Given the description of an element on the screen output the (x, y) to click on. 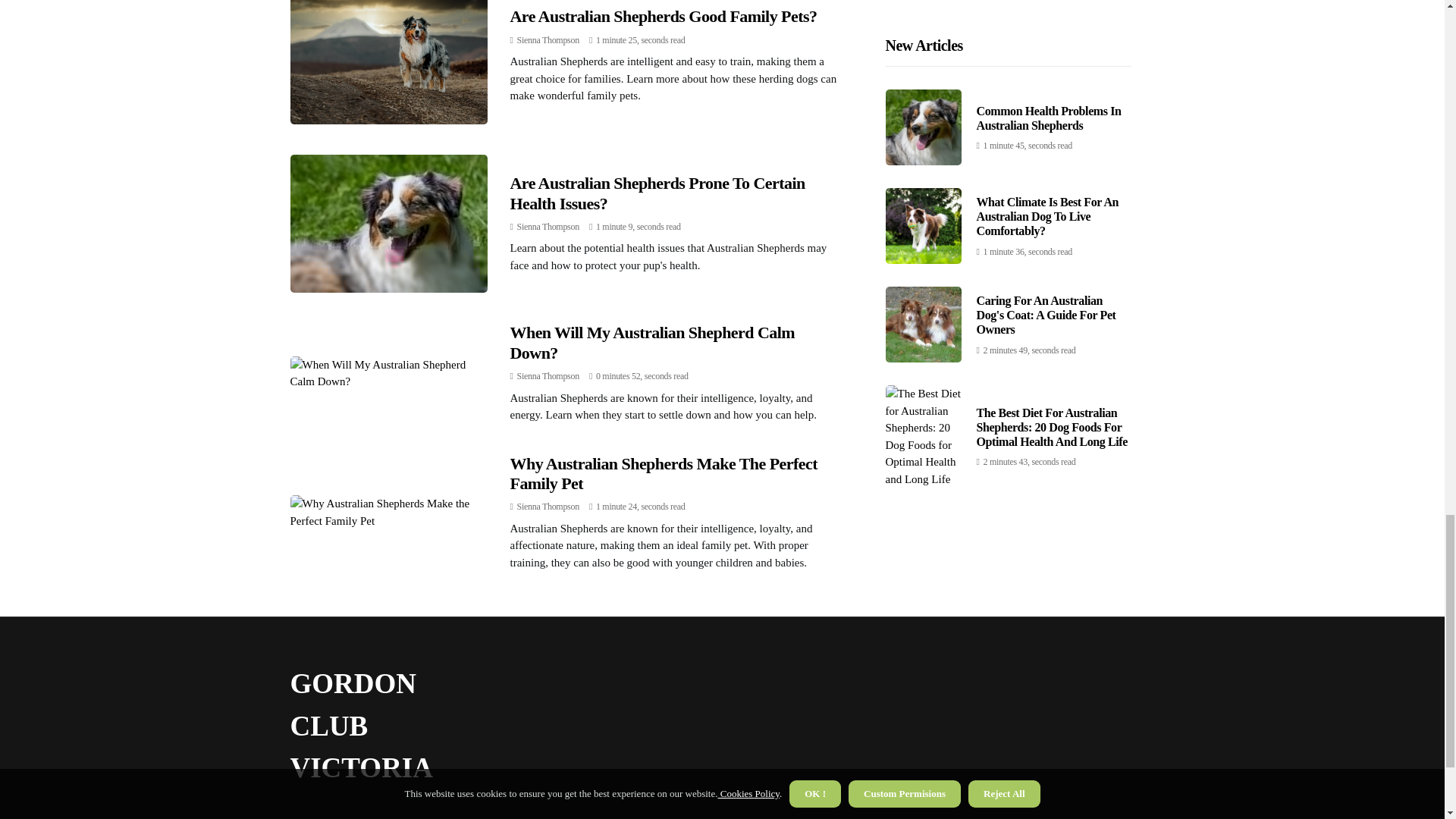
Sienna Thompson (547, 40)
Posts by Sienna Thompson (547, 506)
Sienna Thompson (547, 506)
Are Australian Shepherds Prone To Certain Health Issues? (657, 192)
Posts by Sienna Thompson (547, 40)
Sienna Thompson (547, 226)
Posts by Sienna Thompson (547, 226)
Sienna Thompson (547, 376)
When Will My Australian Shepherd Calm Down? (651, 341)
Posts by Sienna Thompson (547, 376)
